Given the description of an element on the screen output the (x, y) to click on. 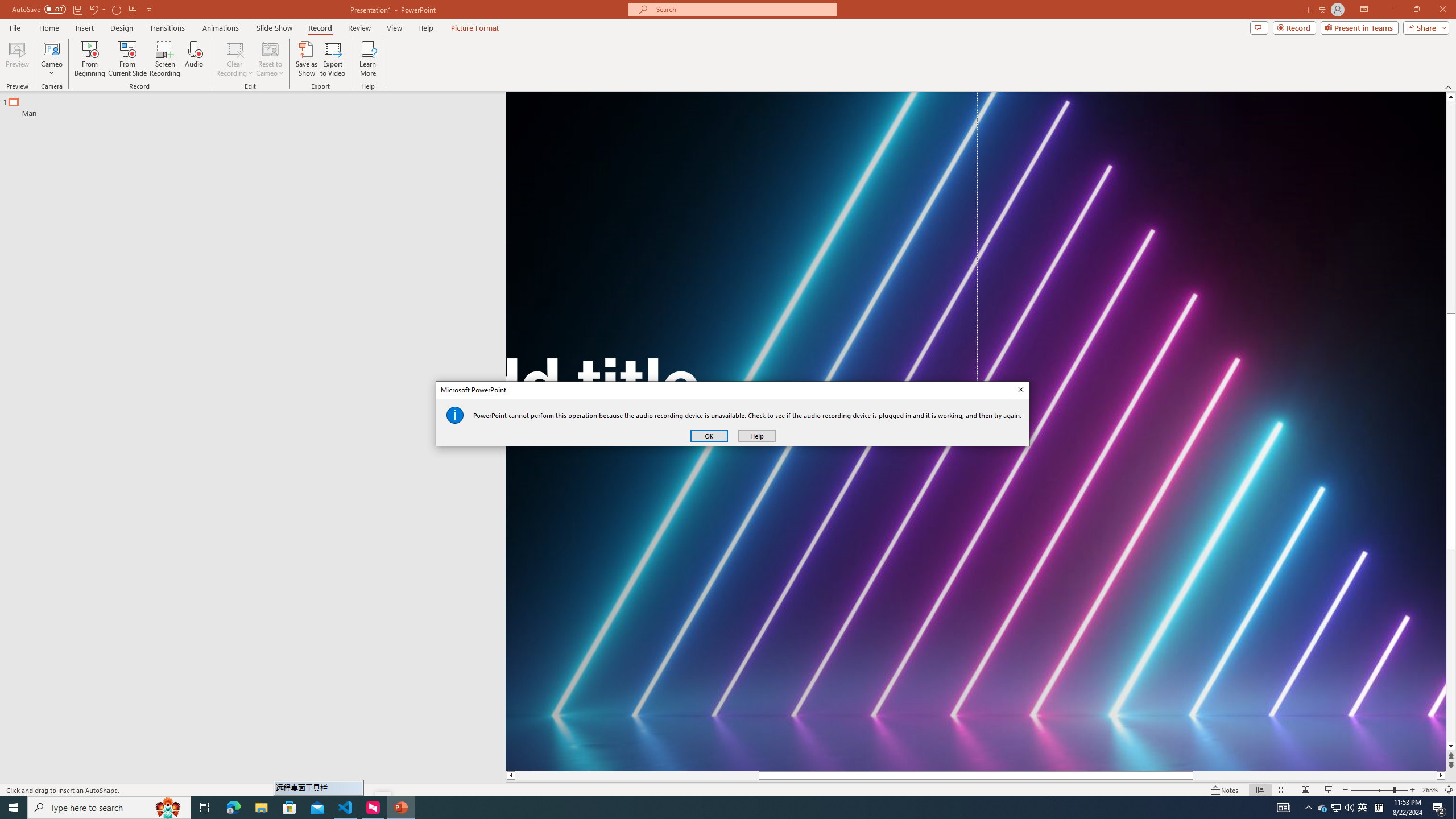
Class: Static (454, 415)
